Given the description of an element on the screen output the (x, y) to click on. 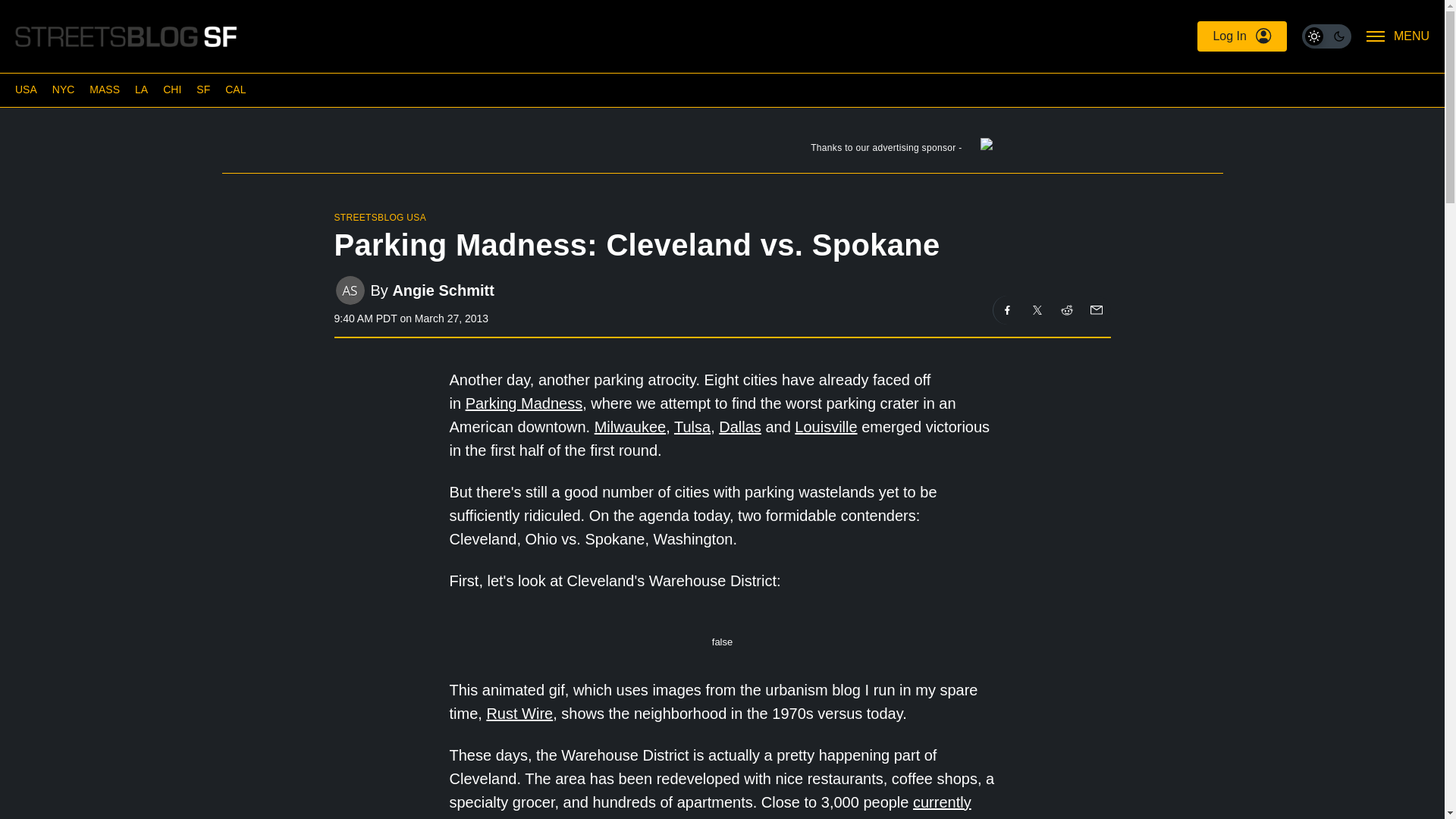
Thanks to our advertising sponsor - (721, 150)
currently live in the Warehouse District (709, 806)
STREETSBLOG USA (379, 217)
Rust Wire (519, 713)
CAL (235, 89)
Dallas (740, 426)
Louisville (825, 426)
NYC (63, 89)
CHI (171, 89)
MASS (103, 89)
